Given the description of an element on the screen output the (x, y) to click on. 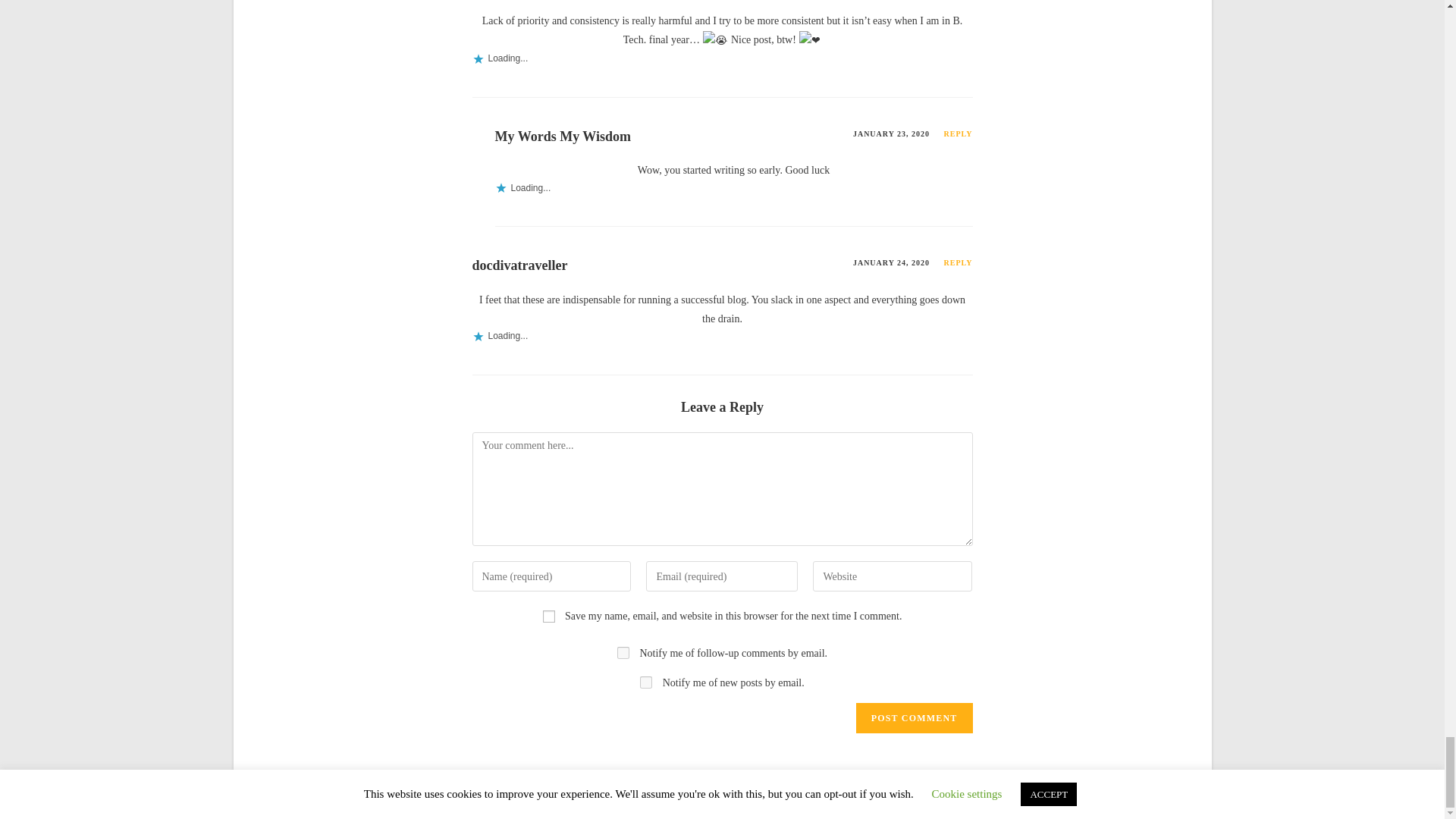
subscribe (646, 682)
yes (548, 616)
Post Comment (914, 717)
subscribe (622, 653)
